Given the description of an element on the screen output the (x, y) to click on. 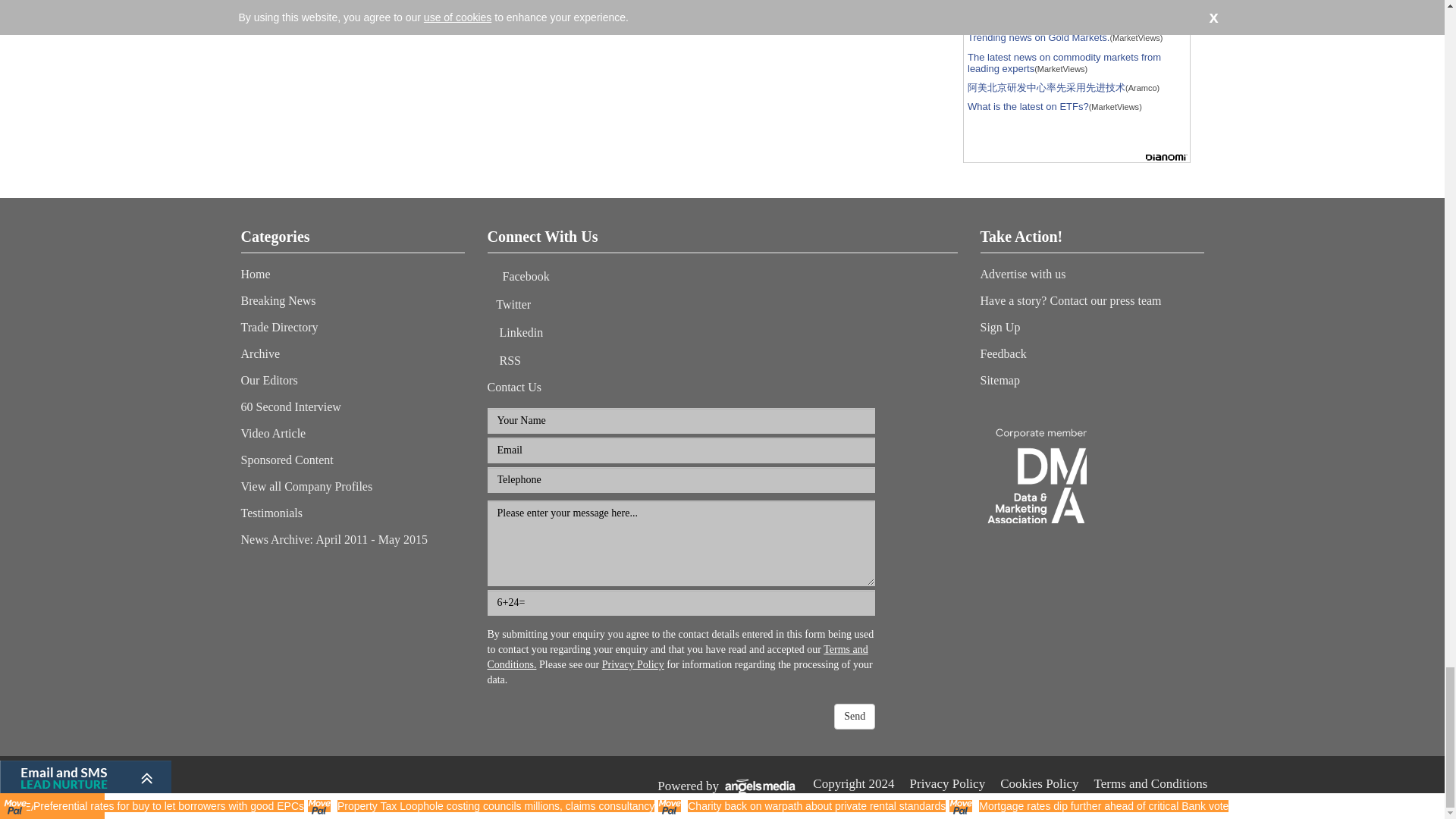
Send (854, 716)
